Given the description of an element on the screen output the (x, y) to click on. 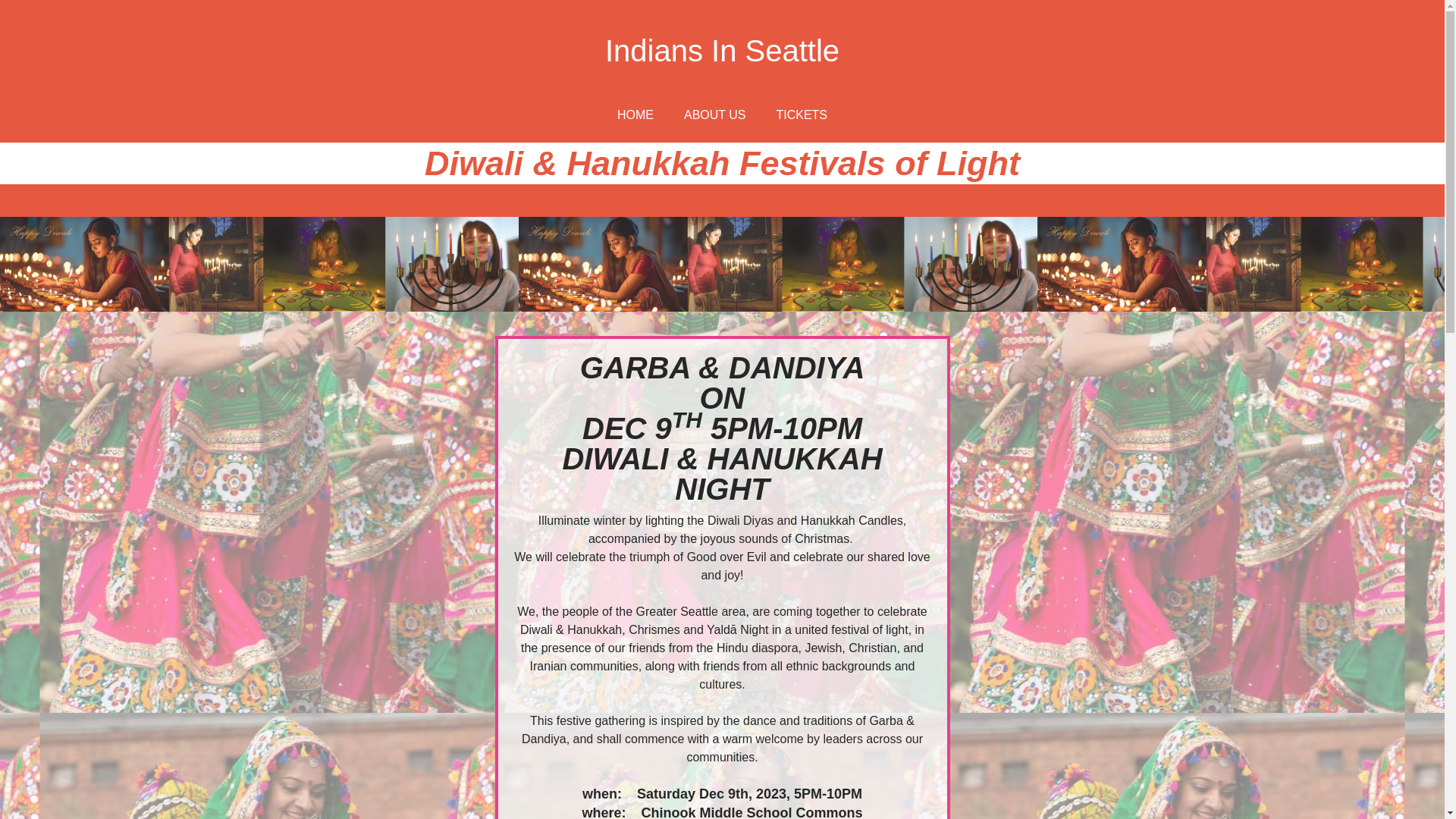
HOME (635, 114)
ABOUT US (714, 114)
TICKETS (801, 114)
